Given the description of an element on the screen output the (x, y) to click on. 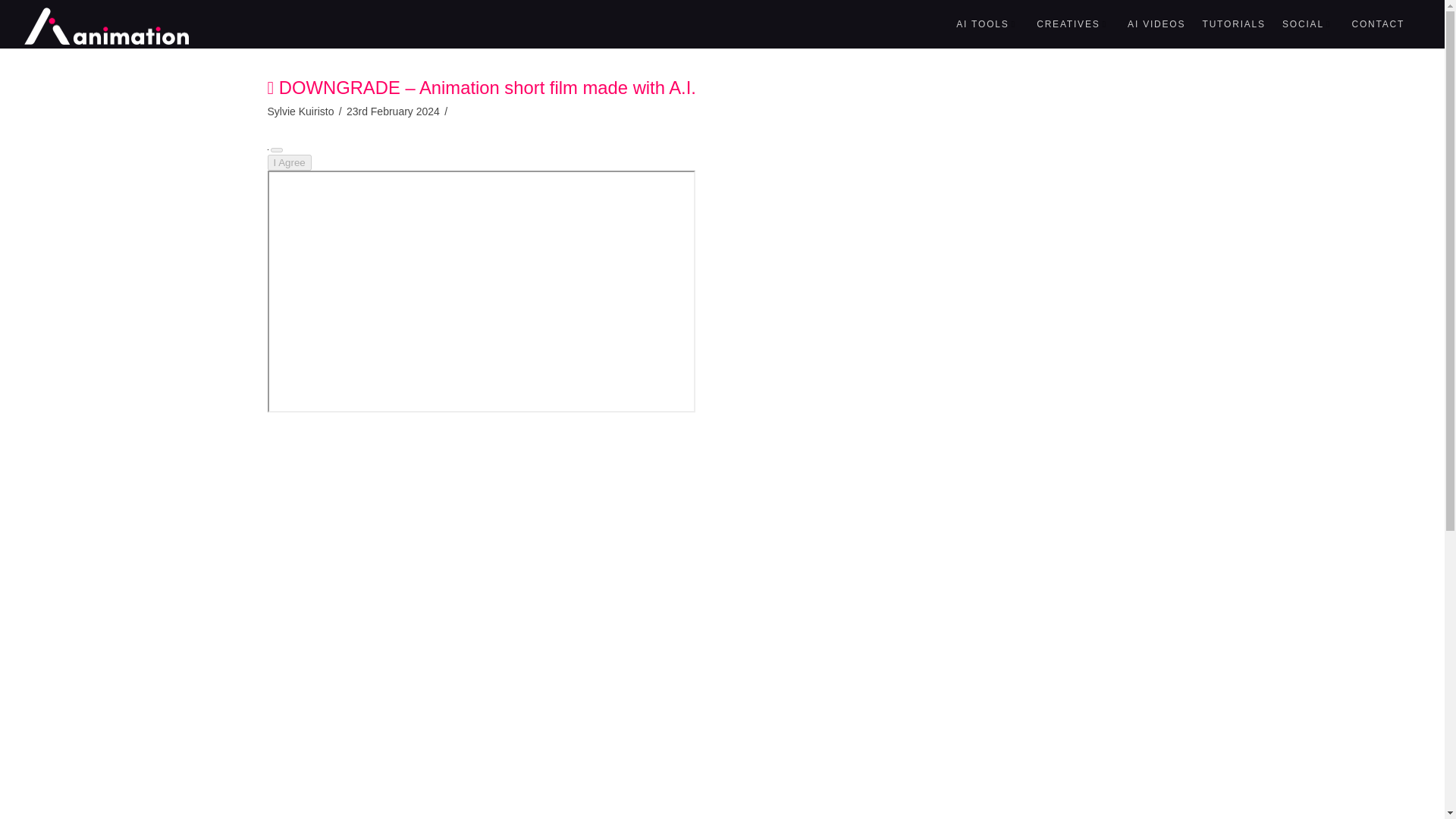
CONTACT (1377, 24)
AI TOOLS (987, 24)
CREATIVES (1072, 24)
SOCIAL (1307, 24)
AI VIDEOS (1155, 24)
TUTORIALS (1233, 24)
